Given the description of an element on the screen output the (x, y) to click on. 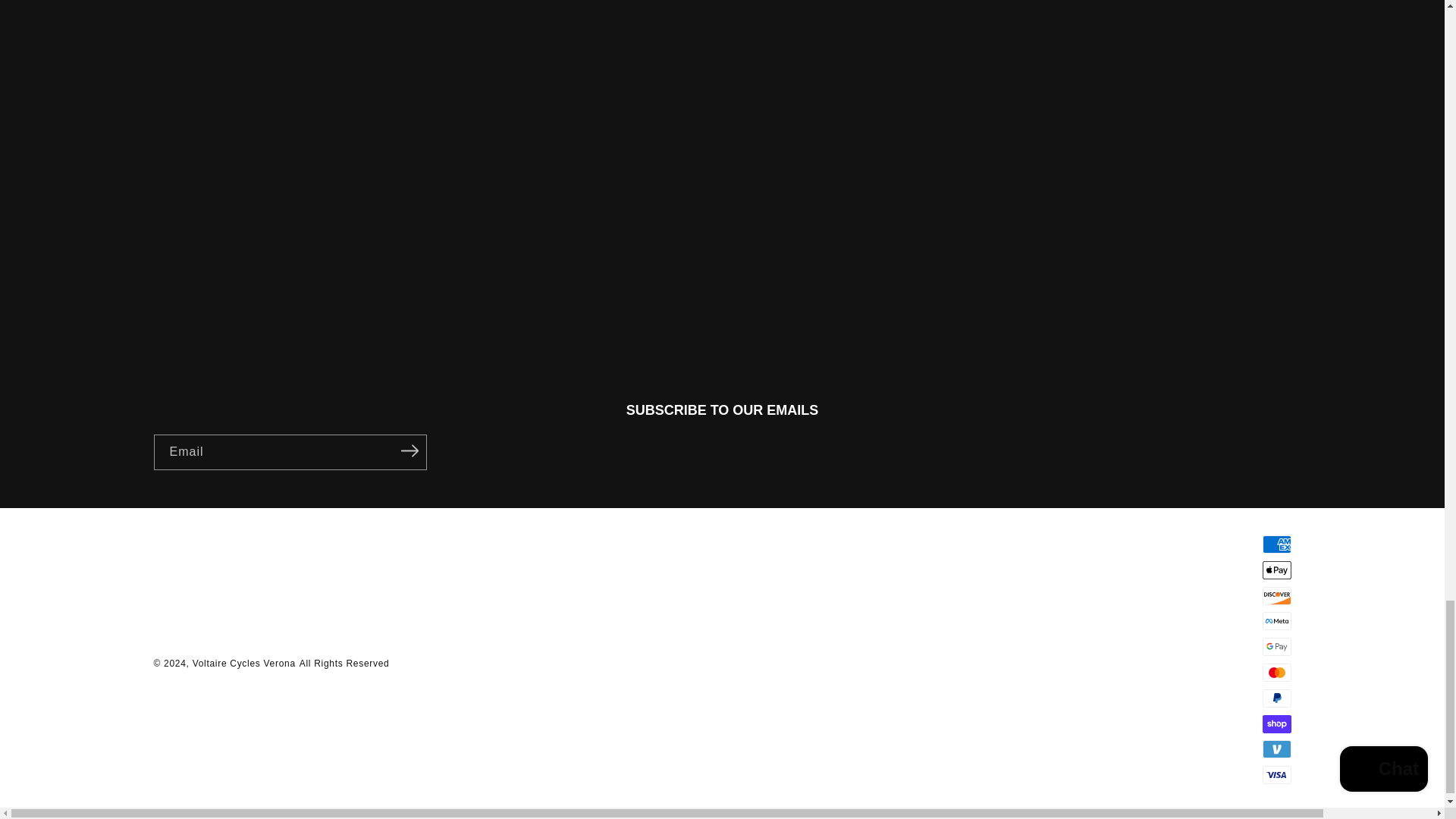
Shop Pay (1276, 723)
Venmo (1276, 749)
Google Pay (1276, 647)
Discover (1276, 596)
American Express (1276, 544)
PayPal (1276, 698)
Apple Pay (1276, 570)
Visa (1276, 774)
Mastercard (1276, 672)
Meta Pay (1276, 620)
